Given the description of an element on the screen output the (x, y) to click on. 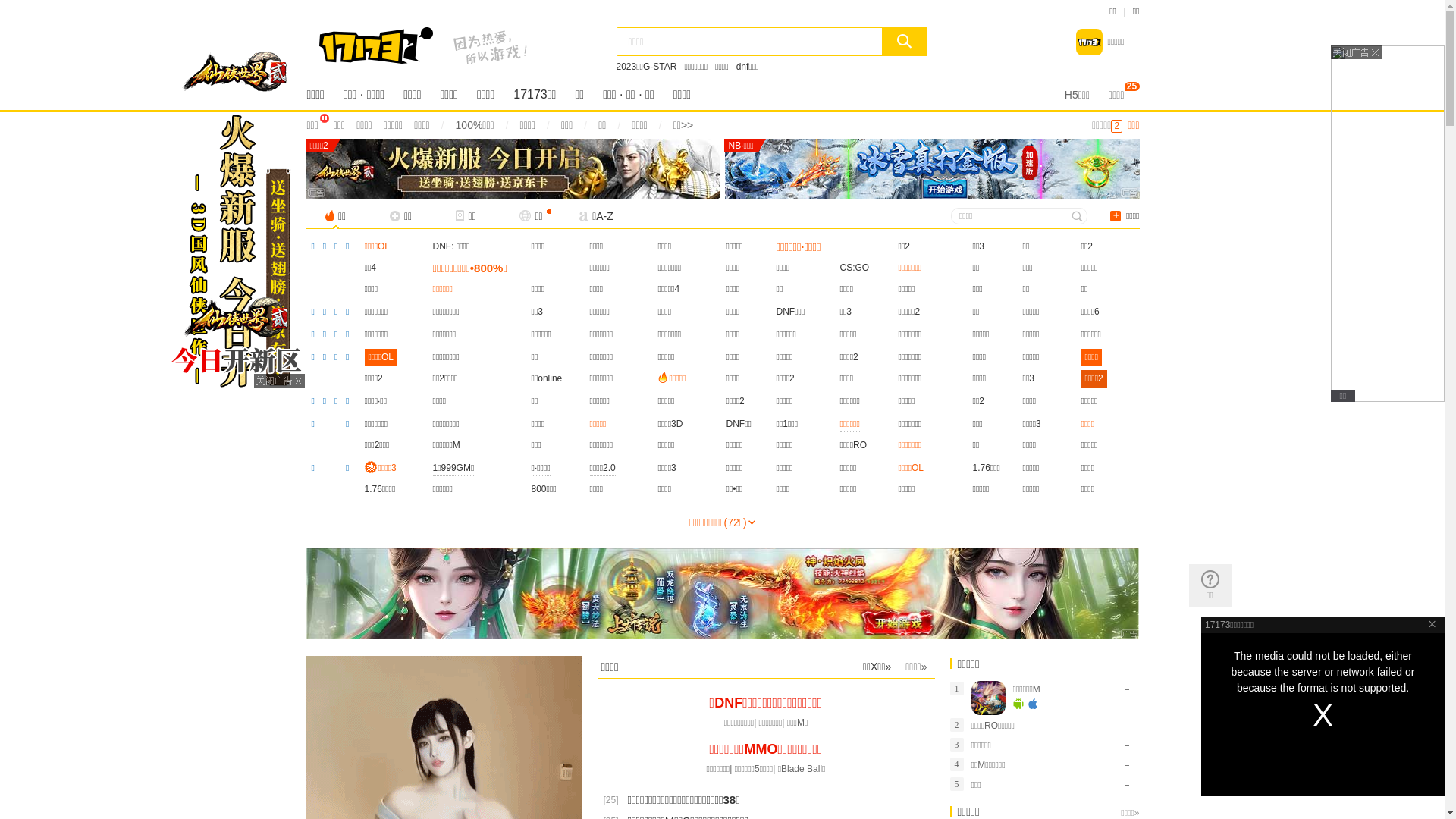
CS:GO Element type: text (854, 267)
